Given the description of an element on the screen output the (x, y) to click on. 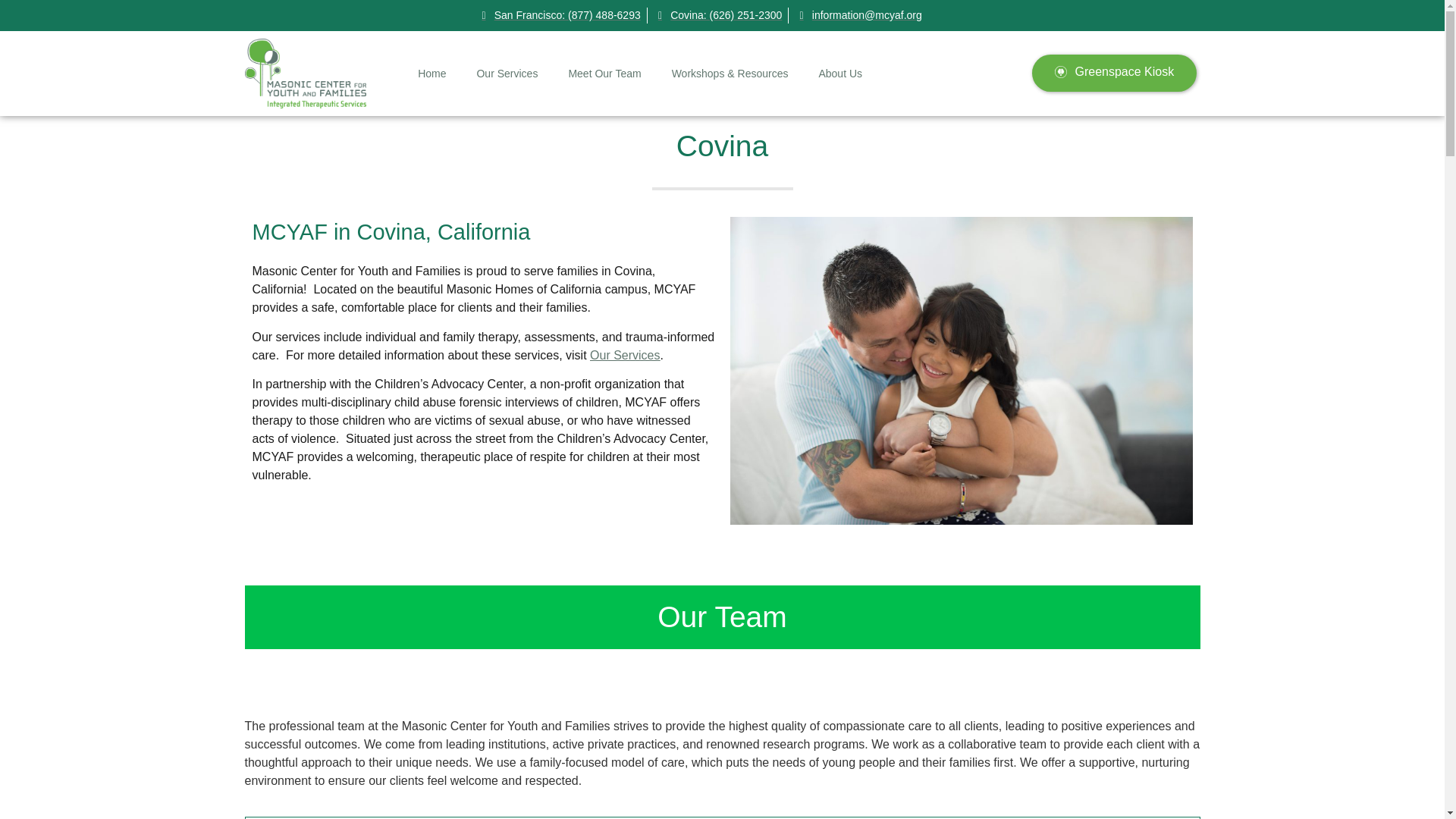
Our Services (507, 73)
About Us (840, 73)
Our Services (624, 354)
Home (432, 73)
Meet Our Team (604, 73)
